Given the description of an element on the screen output the (x, y) to click on. 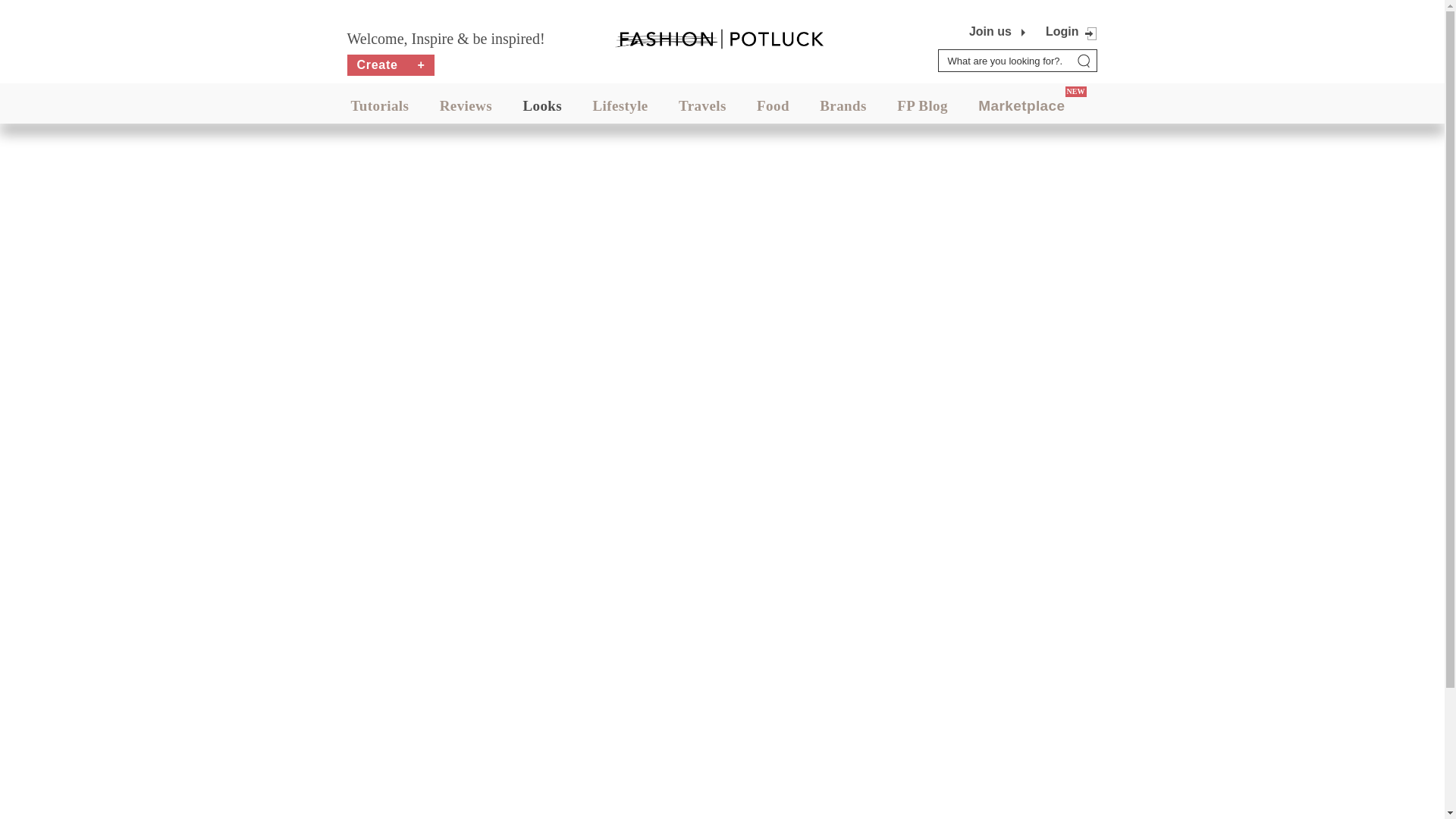
MARKETPLACE (1021, 105)
FP-Blog (921, 105)
FP Blog (921, 105)
Join us (990, 31)
Lifestyle (619, 105)
Brands (842, 105)
TRAVELS (702, 105)
REVIEWS (465, 105)
Looks (542, 105)
LOOKS (542, 105)
LIFESTYLE (619, 105)
FOOD (773, 105)
Food (773, 105)
Travels (702, 105)
TUTORIALS (379, 105)
